Given the description of an element on the screen output the (x, y) to click on. 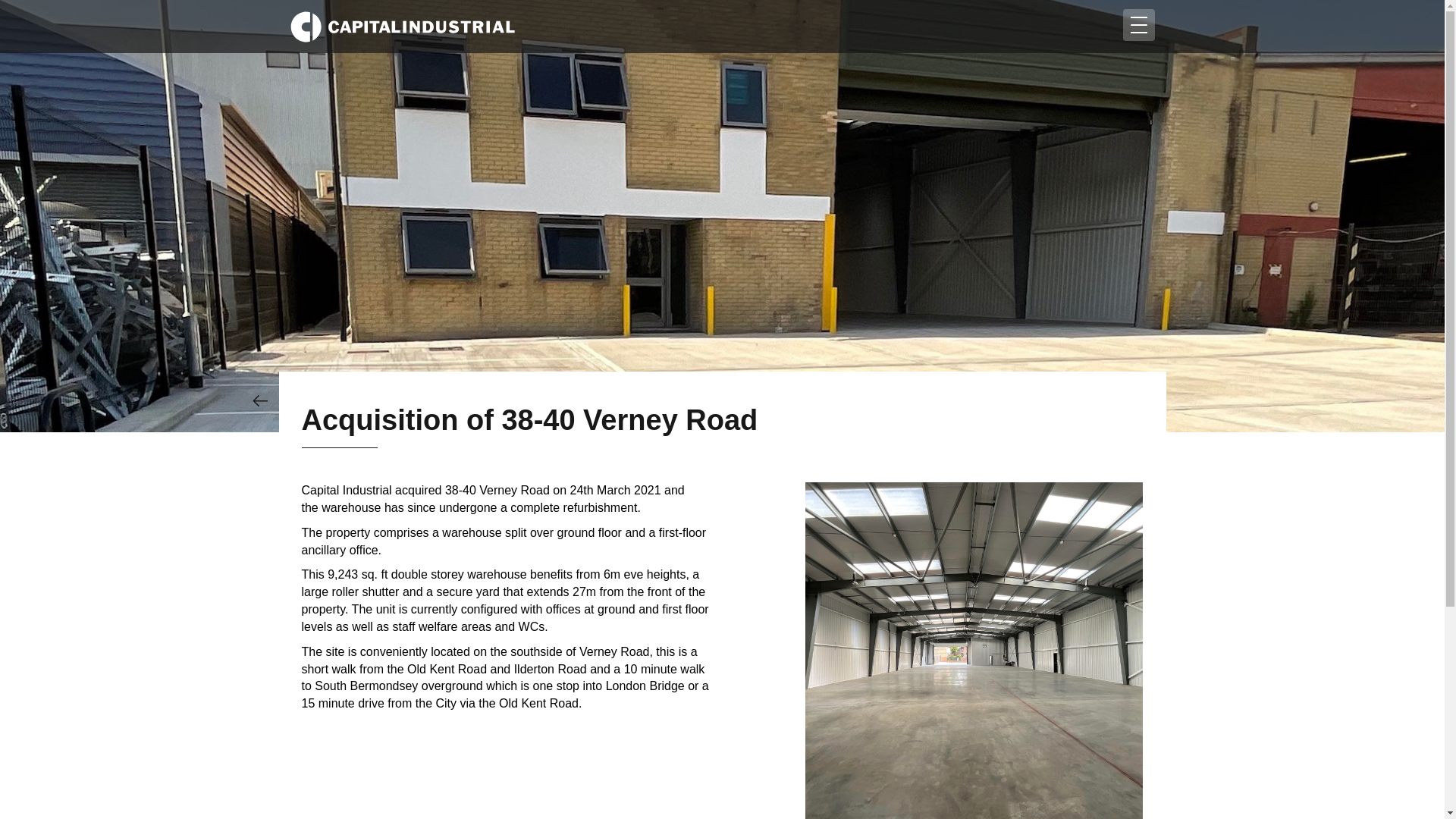
Toggle navigation (1138, 24)
Capital Industrial (401, 27)
Back to News (258, 399)
